Given the description of an element on the screen output the (x, y) to click on. 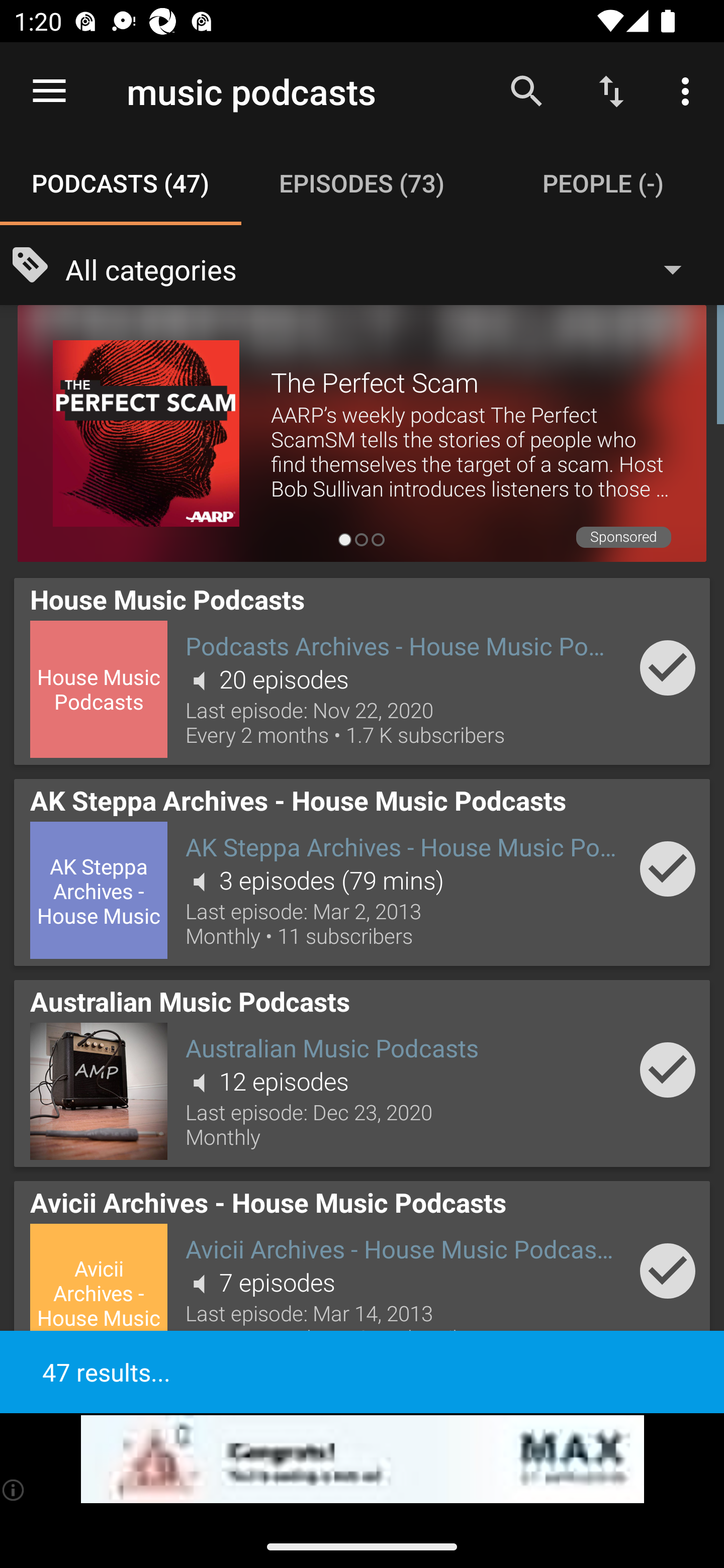
Open navigation sidebar (49, 91)
Search (526, 90)
Sort (611, 90)
More options (688, 90)
Episodes (73) EPISODES (73) (361, 183)
People (-) PEOPLE (-) (603, 183)
All categories (383, 268)
Add (667, 667)
Add (667, 868)
Add (667, 1069)
Add (667, 1271)
app-monetization (362, 1459)
(i) (14, 1489)
